Given the description of an element on the screen output the (x, y) to click on. 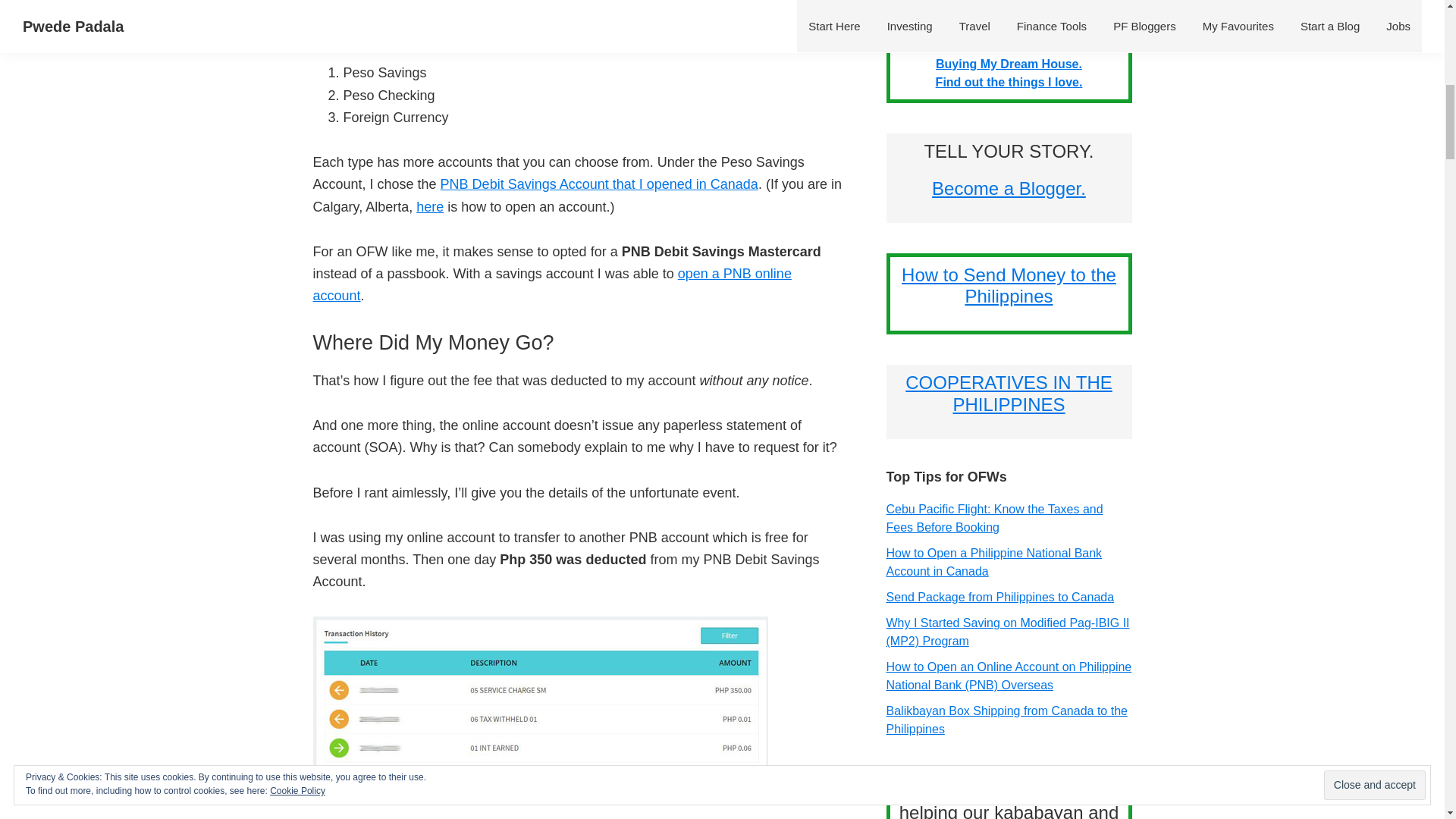
open a PNB online account (551, 284)
here (430, 206)
PNB Debit Savings Account that I opened in Canada (599, 183)
